Given the description of an element on the screen output the (x, y) to click on. 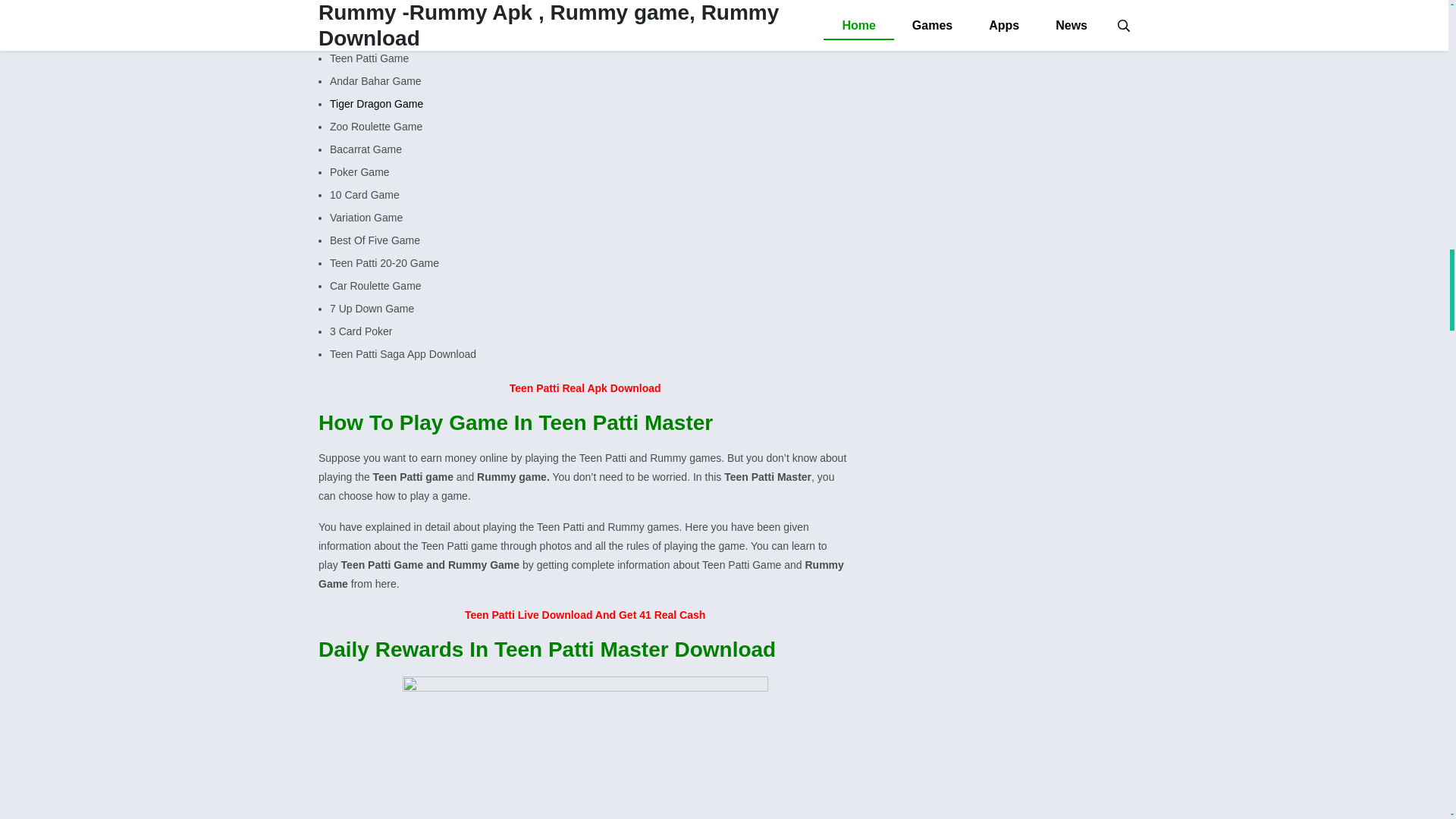
Tiger Dragon Game (376, 103)
Teen Patti Real Apk Download (585, 387)
Teen Patti Live Download And Get 41 Real Cash (584, 614)
